Given the description of an element on the screen output the (x, y) to click on. 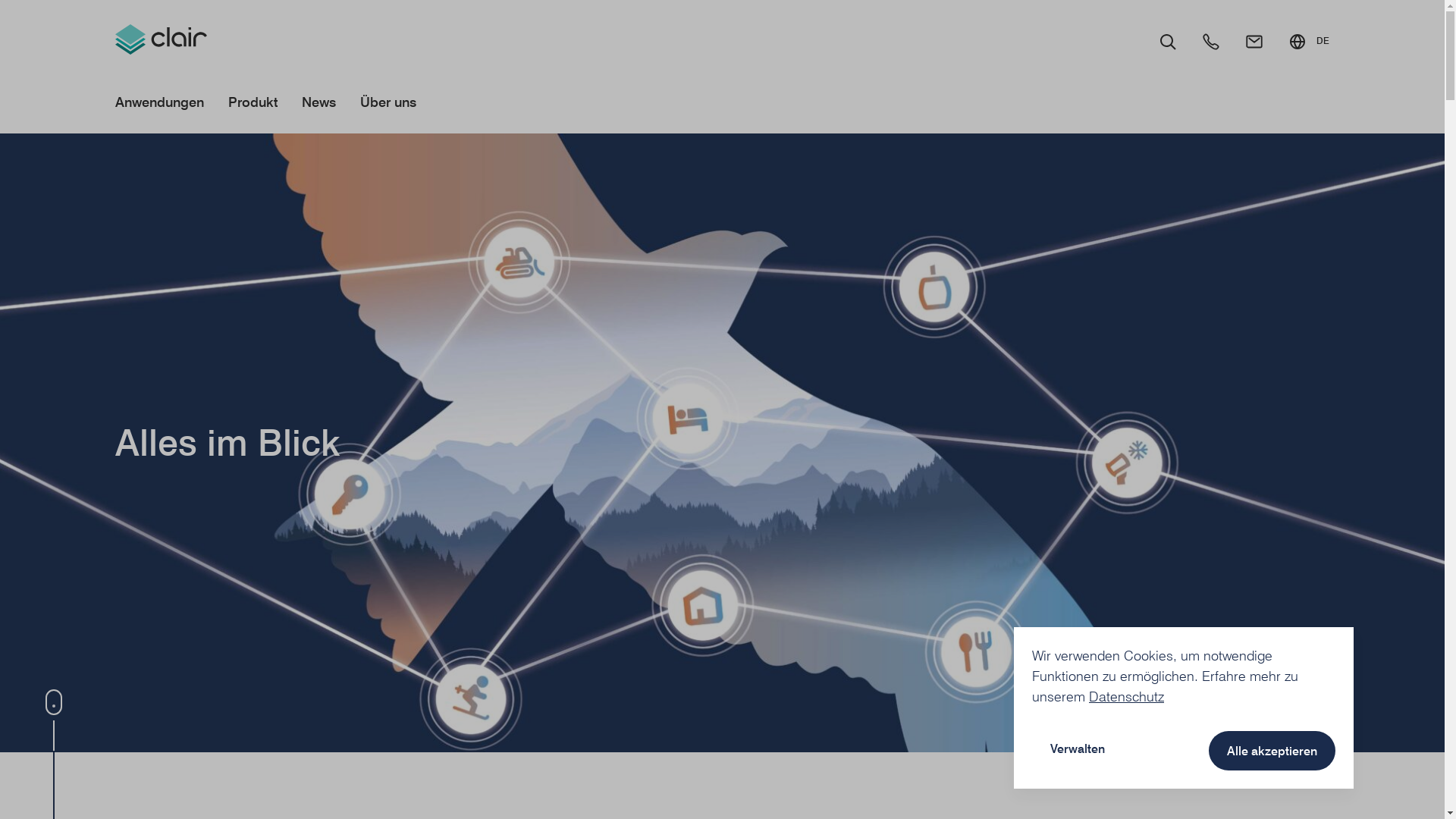
+43 5574 604 700 Element type: text (1210, 41)
CONTACT@CLAIR.CC Element type: text (1254, 41)
Anwendungen Element type: text (159, 104)
Produkt Element type: text (252, 104)
News Element type: text (318, 104)
DM_clair_Headerbild Element type: hover (722, 442)
Datenschutz Element type: text (1126, 696)
DE Element type: text (1308, 41)
Alle akzeptieren Element type: text (1271, 750)
